Given the description of an element on the screen output the (x, y) to click on. 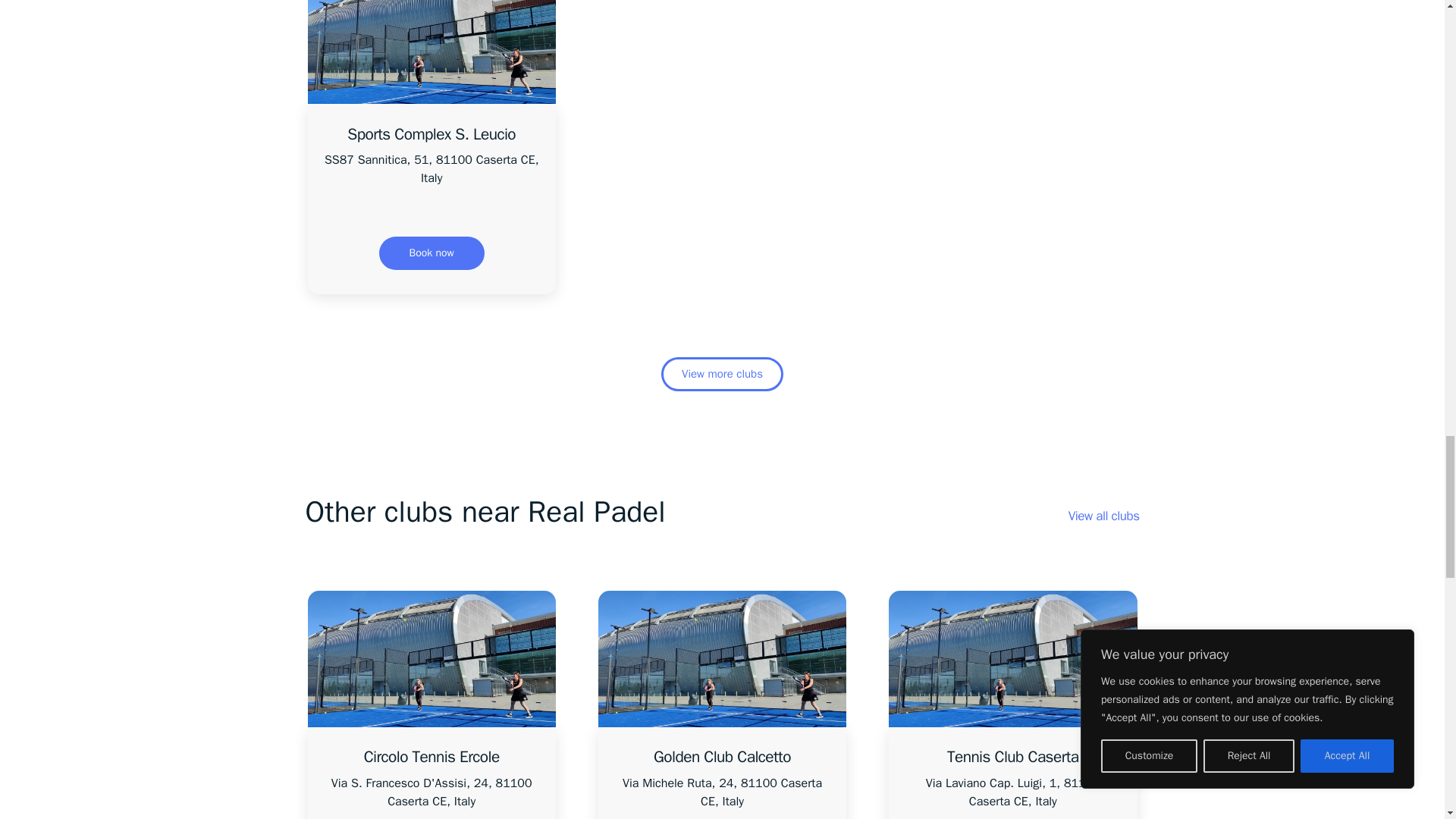
View all clubs (1104, 515)
Book now (431, 253)
View more clubs (722, 374)
